Given the description of an element on the screen output the (x, y) to click on. 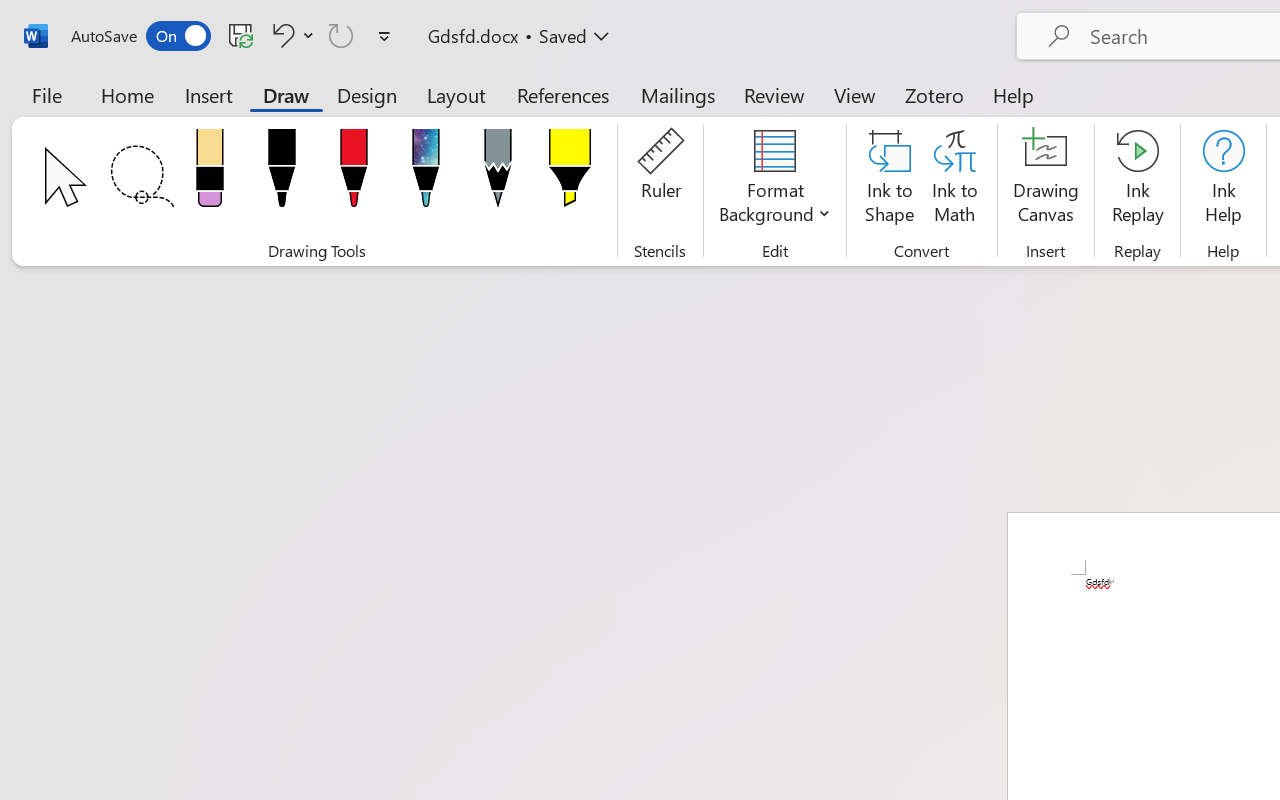
From Beginning... (158, 114)
Save as Show (539, 114)
100% (1224, 786)
200% (1224, 765)
Picture Format (834, 54)
Screen Recording (290, 114)
